Given the description of an element on the screen output the (x, y) to click on. 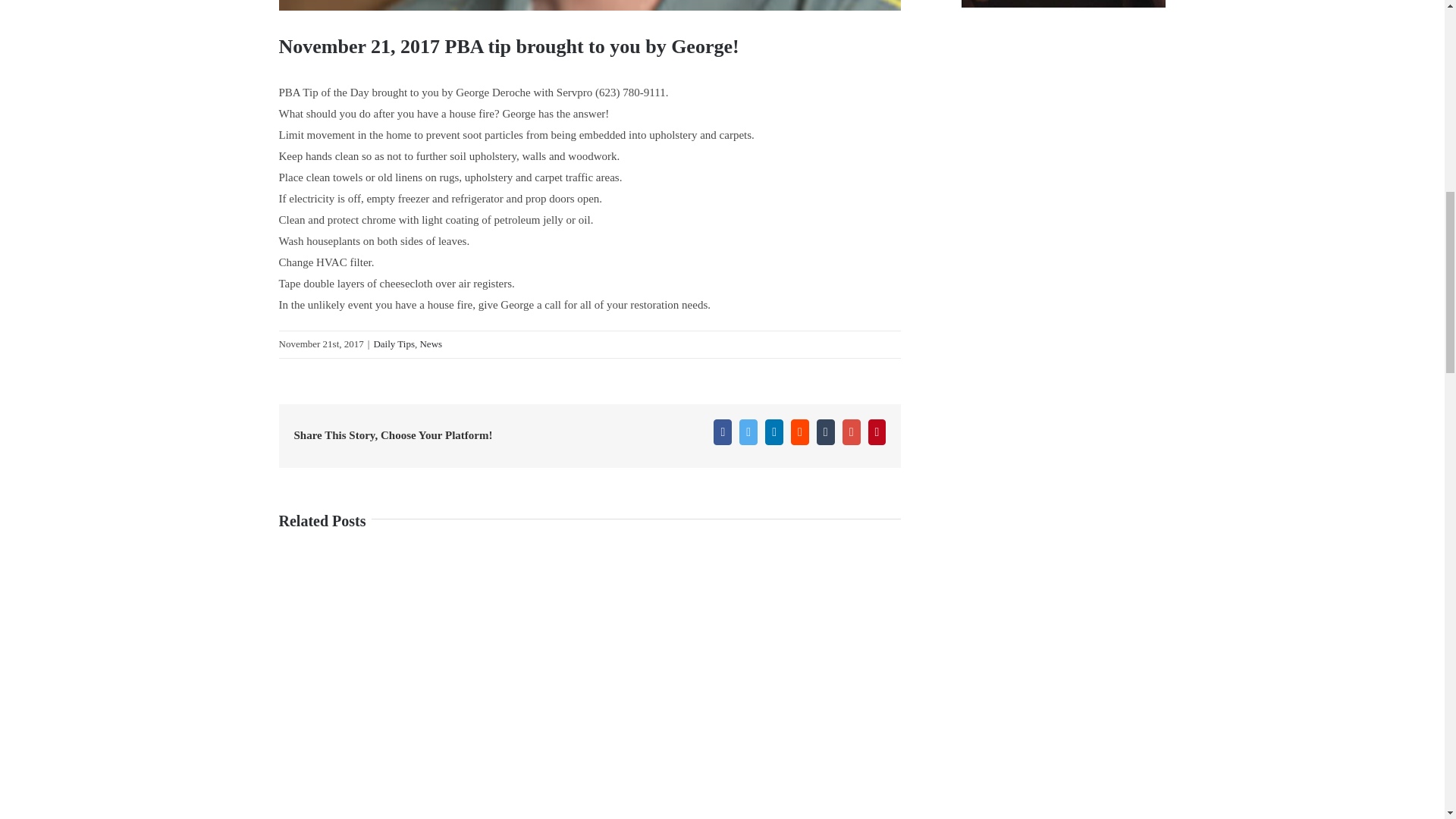
View Larger Image (590, 5)
Daily Tips (393, 343)
News (430, 343)
